Given the description of an element on the screen output the (x, y) to click on. 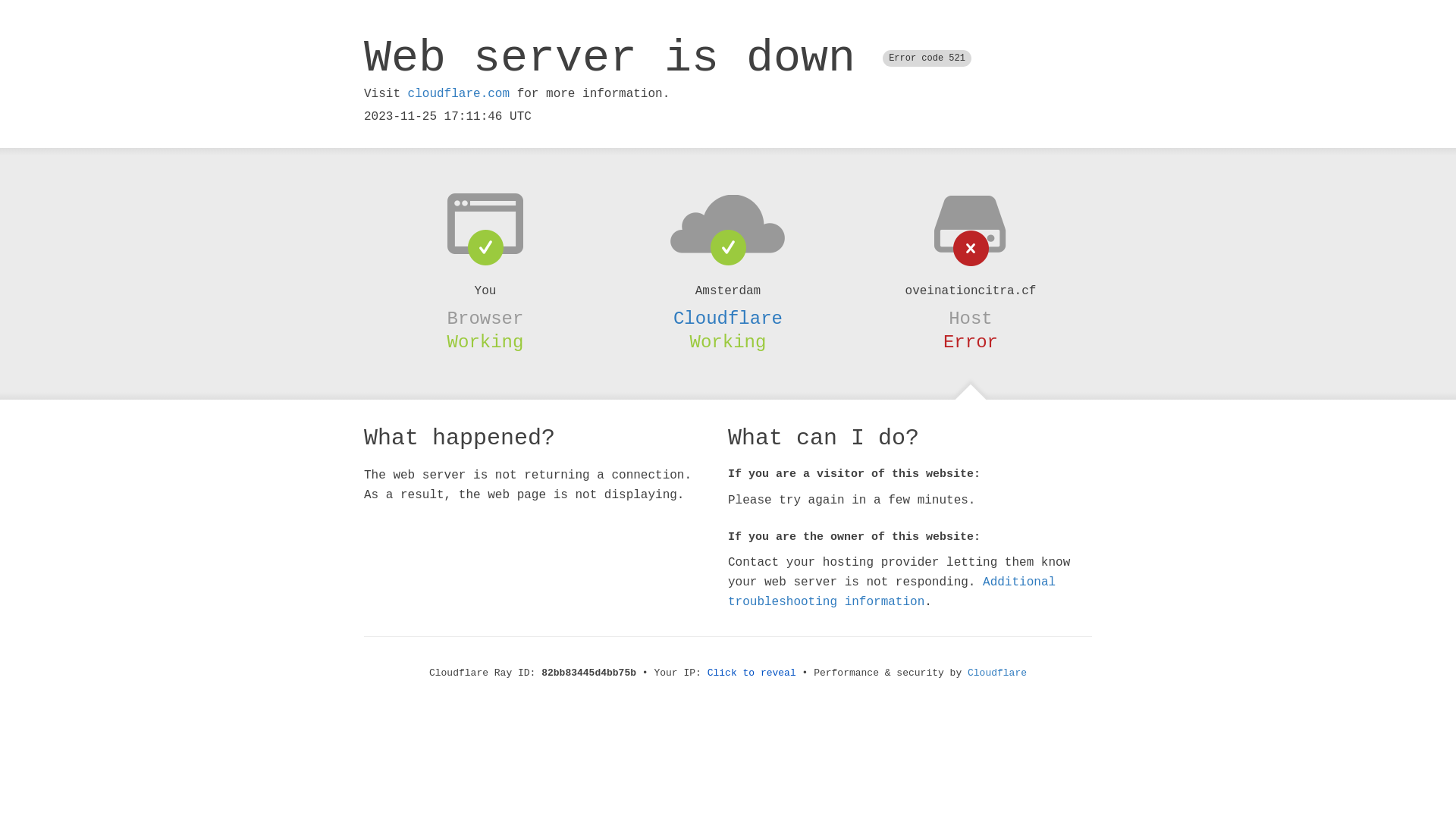
Click to reveal Element type: text (751, 672)
Cloudflare Element type: text (996, 672)
cloudflare.com Element type: text (458, 93)
Cloudflare Element type: text (727, 318)
Additional troubleshooting information Element type: text (891, 591)
